Given the description of an element on the screen output the (x, y) to click on. 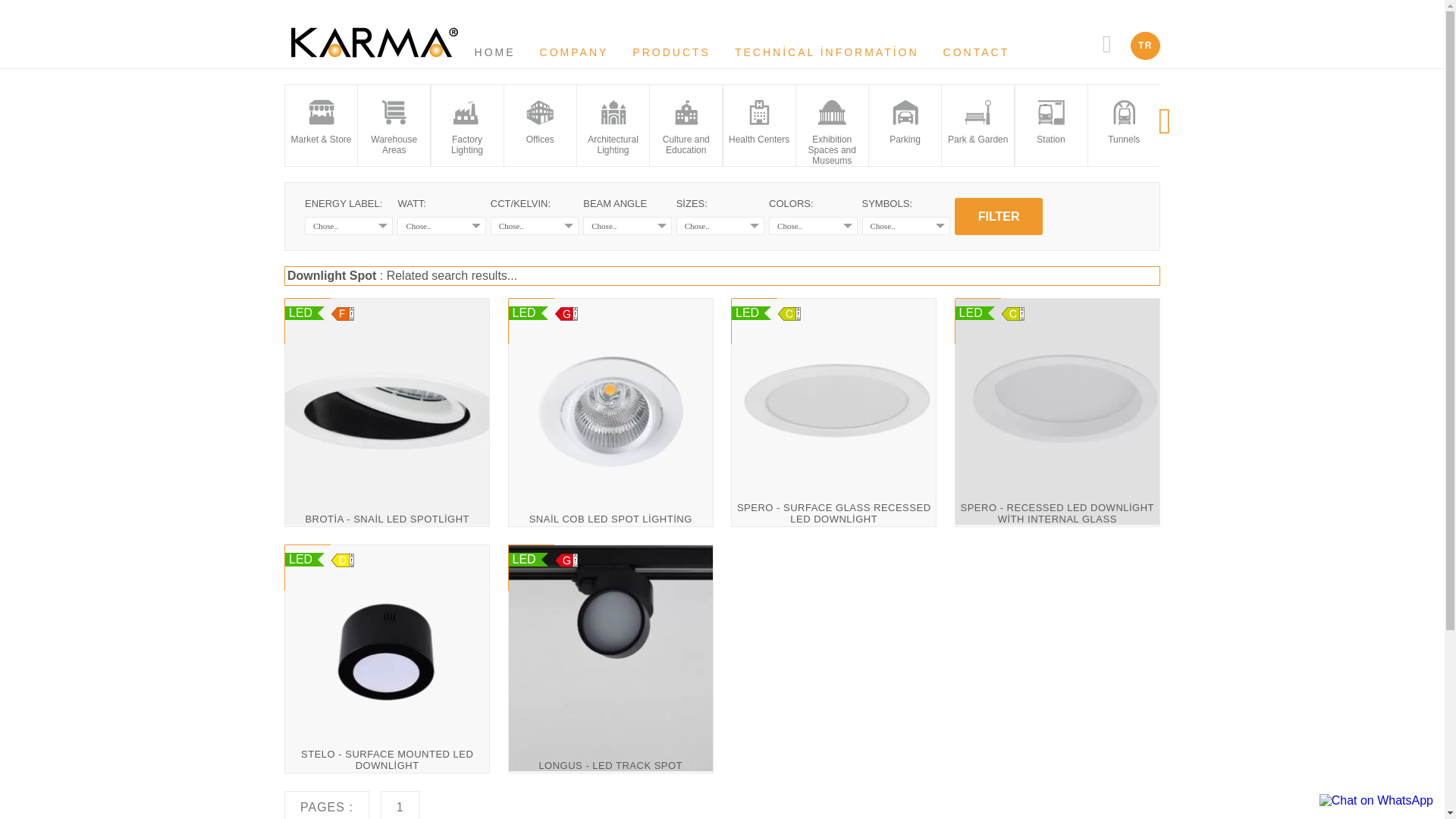
FILTER (998, 216)
